Given the description of an element on the screen output the (x, y) to click on. 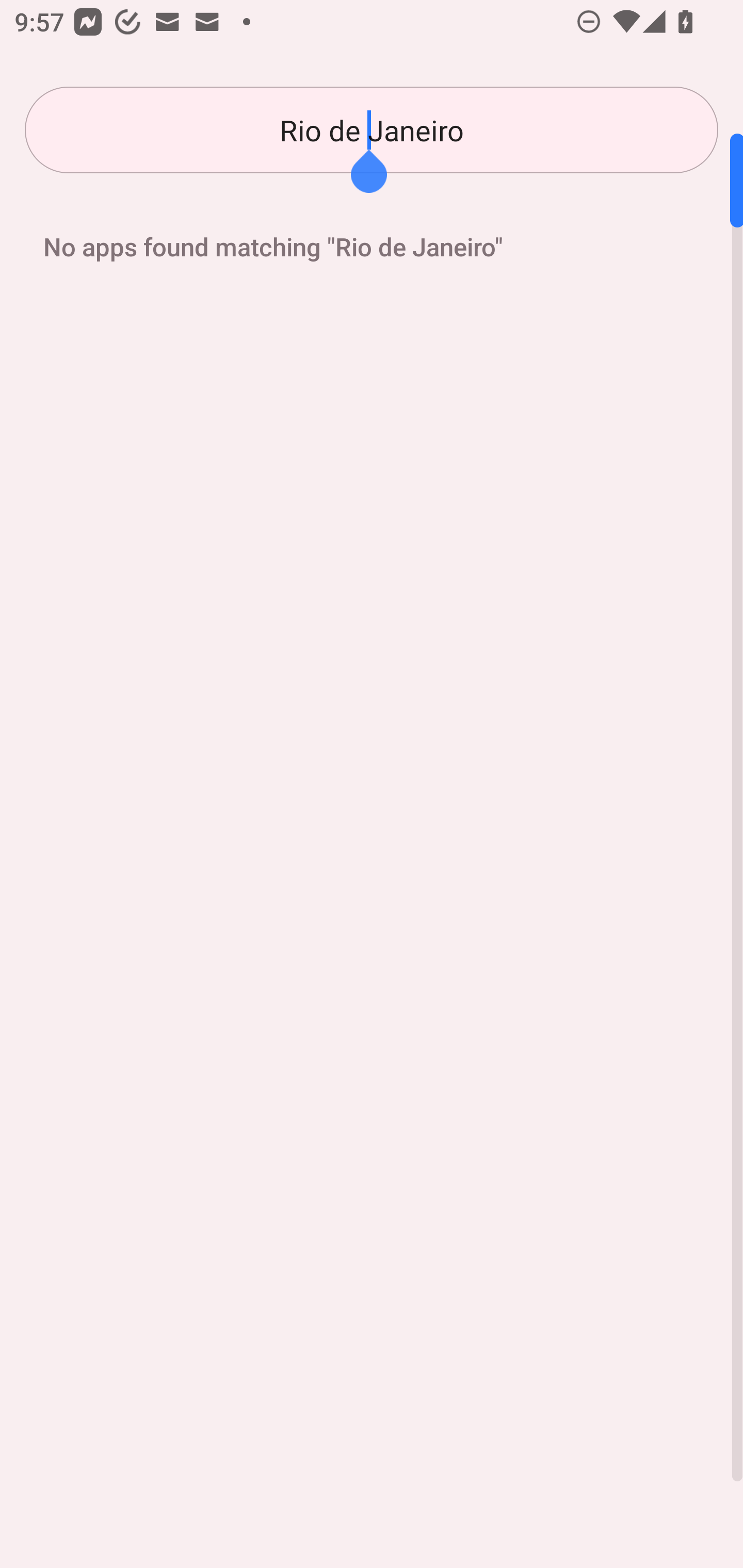
Rio de Janeiro (371, 130)
